Given the description of an element on the screen output the (x, y) to click on. 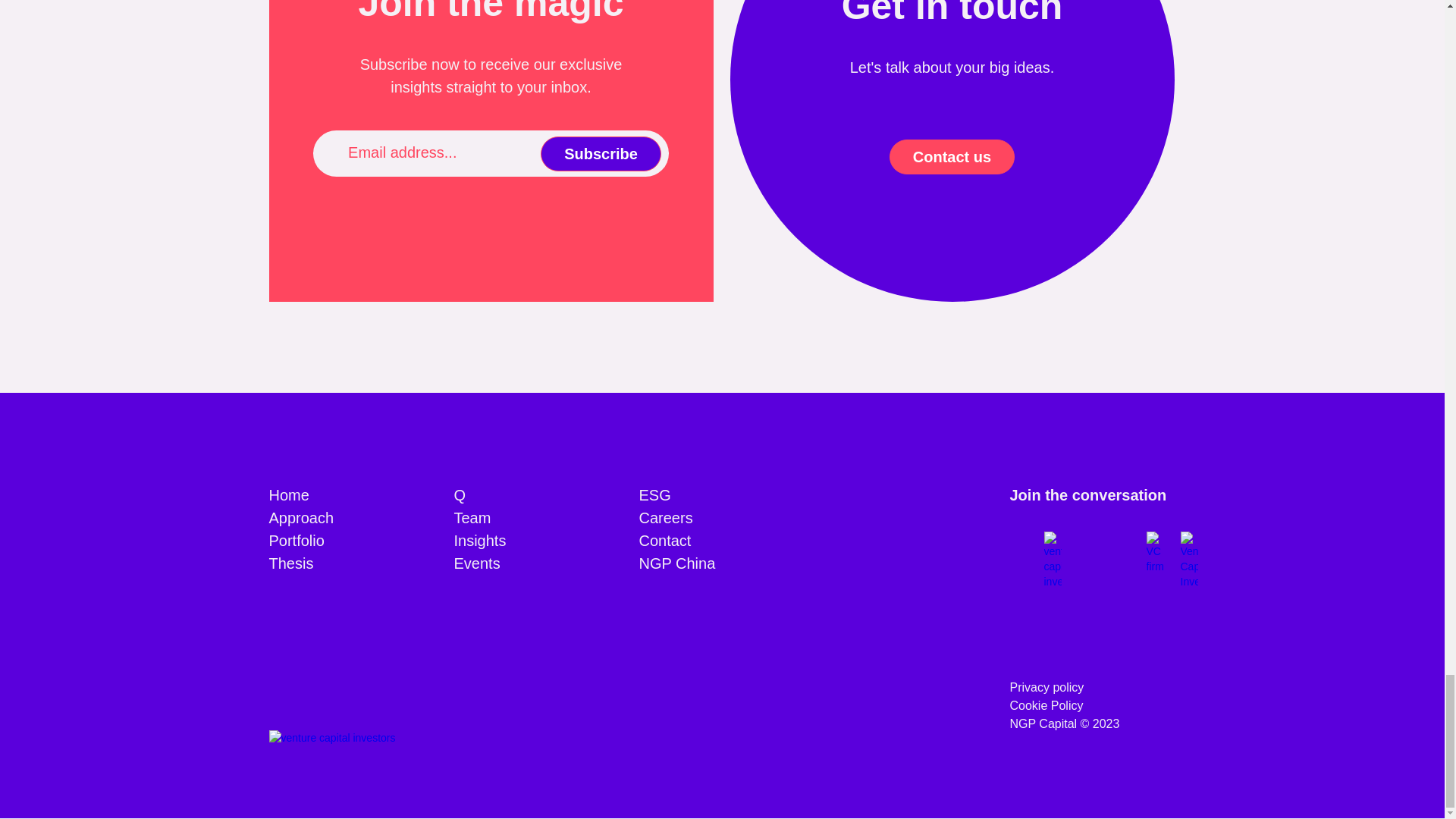
NGP China (676, 563)
Team (471, 517)
Insights (478, 540)
Approach (300, 517)
Careers (666, 517)
Join the conversation (1088, 495)
Subscribe (600, 153)
Contact (664, 540)
Subscribe (600, 153)
Thesis (290, 563)
